Given the description of an element on the screen output the (x, y) to click on. 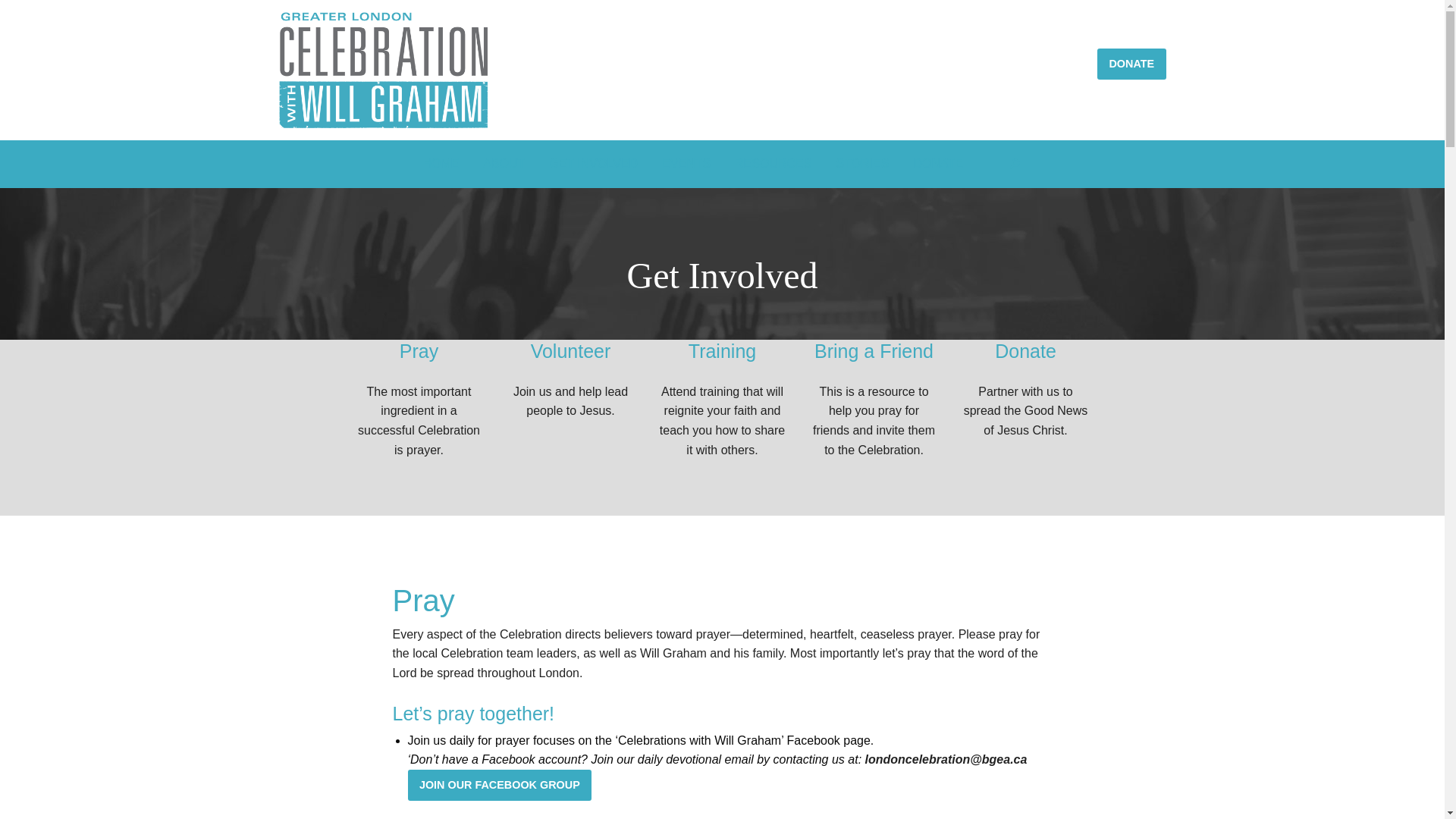
RESOURCES Element type: text (772, 163)
EVENTS Element type: text (685, 163)
ABOUT Element type: text (503, 163)
HOME Element type: text (440, 163)
STORIES Element type: text (861, 163)
DONATE Element type: text (937, 163)
GET INVOLVED Element type: text (592, 163)
DONATE Element type: text (1131, 63)
JOIN OUR FACEBOOK GROUP Element type: text (499, 784)
London Celebration with Will Graham Element type: hover (383, 68)
Search Element type: text (827, 215)
londoncelebration@bgea.ca Element type: text (946, 759)
